Given the description of an element on the screen output the (x, y) to click on. 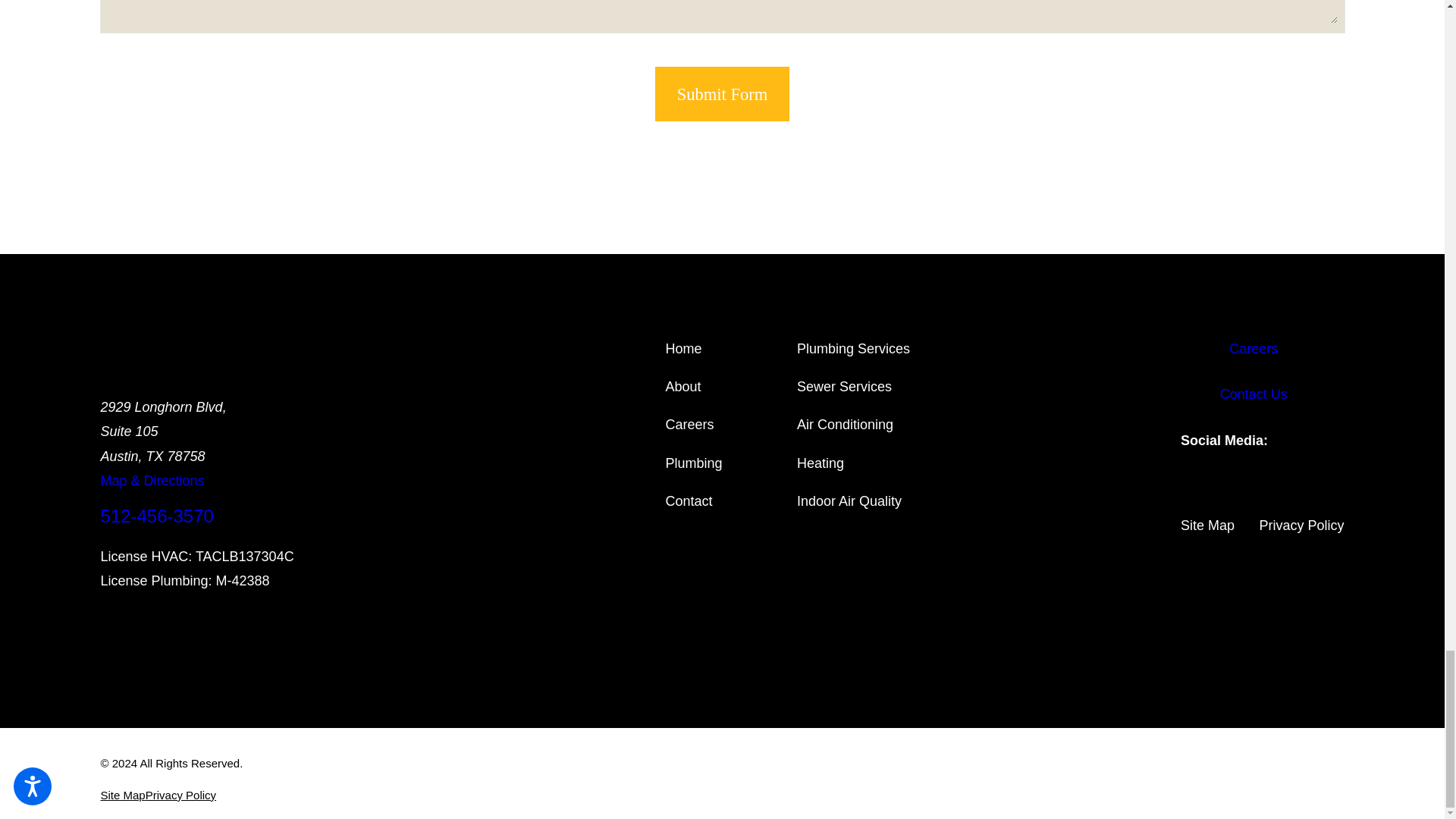
Google Business Profile (1233, 493)
Facebook (1186, 493)
Instagram (1210, 493)
